Given the description of an element on the screen output the (x, y) to click on. 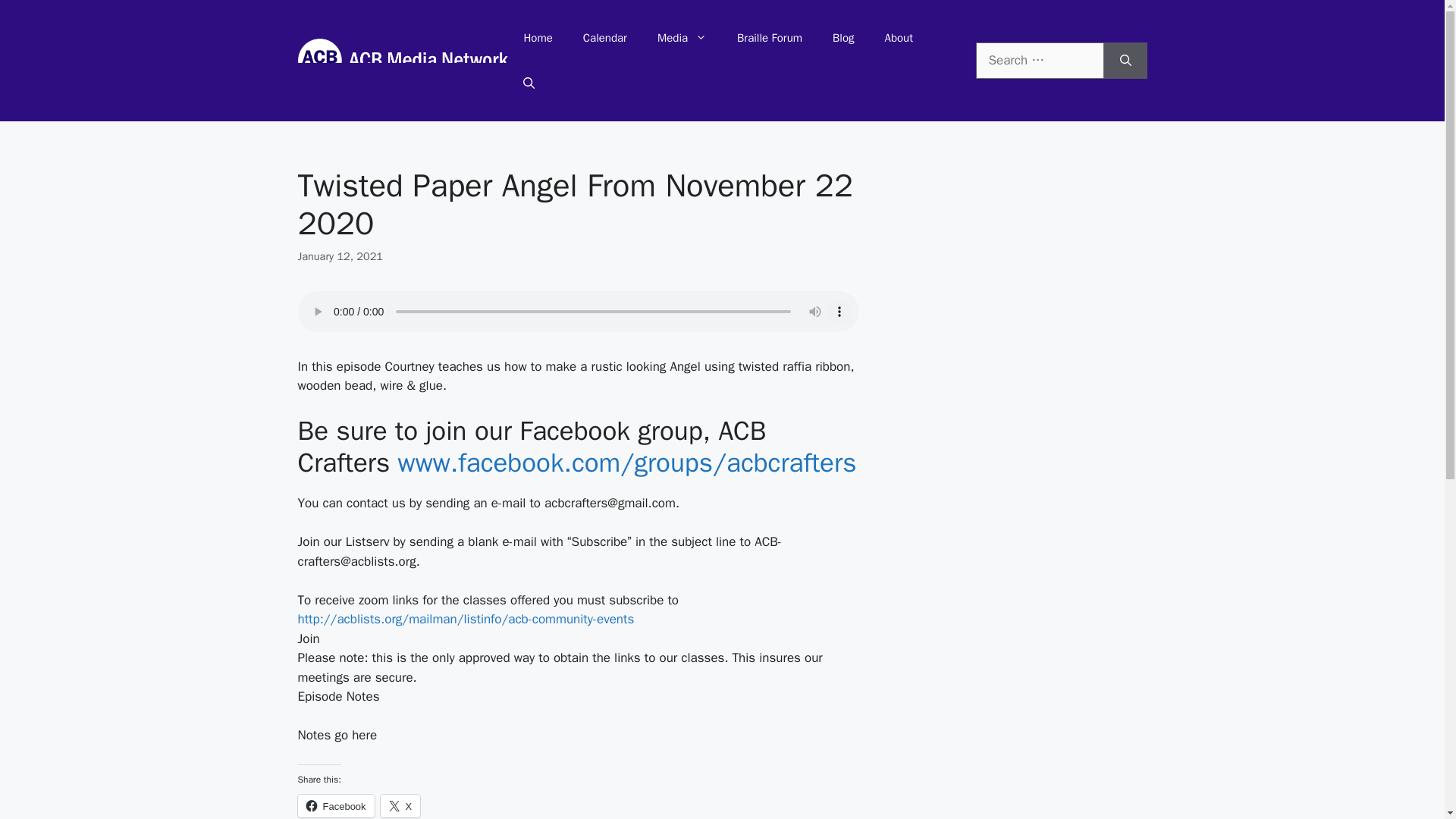
Blog (842, 37)
Click to share on Facebook (335, 805)
Braille Forum (769, 37)
Search for: (1039, 60)
Calendar (604, 37)
Click to share on X (400, 805)
Facebook (335, 805)
Media (682, 37)
About (898, 37)
Home (537, 37)
X (400, 805)
